Given the description of an element on the screen output the (x, y) to click on. 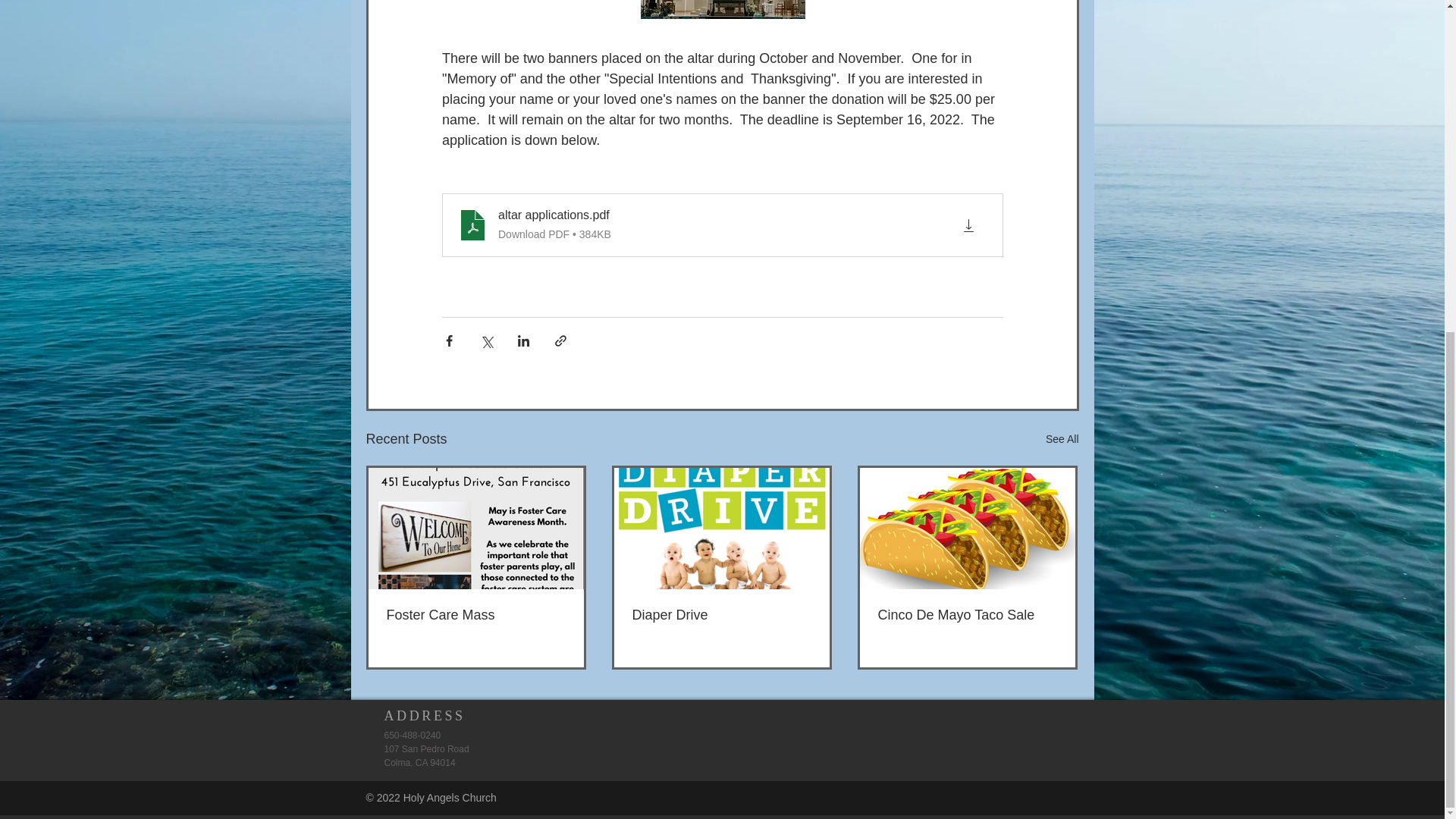
Foster Care Mass (476, 615)
Cinco De Mayo Taco Sale (967, 615)
See All (1061, 439)
Diaper Drive (720, 615)
